Given the description of an element on the screen output the (x, y) to click on. 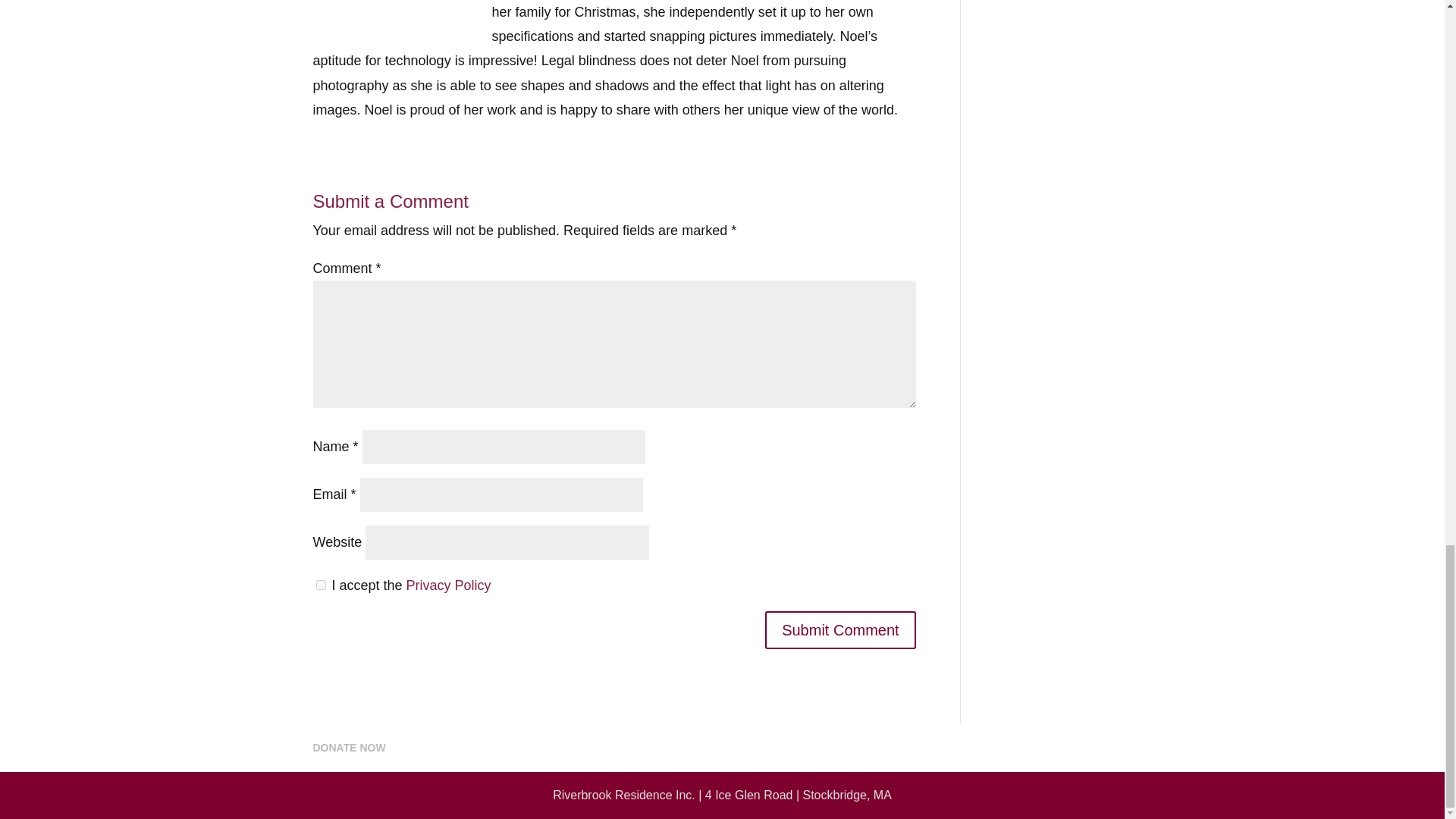
DONATE NOW (349, 747)
Submit Comment (840, 629)
Privacy Policy (449, 585)
Submit Comment (840, 629)
1 (319, 584)
